Given the description of an element on the screen output the (x, y) to click on. 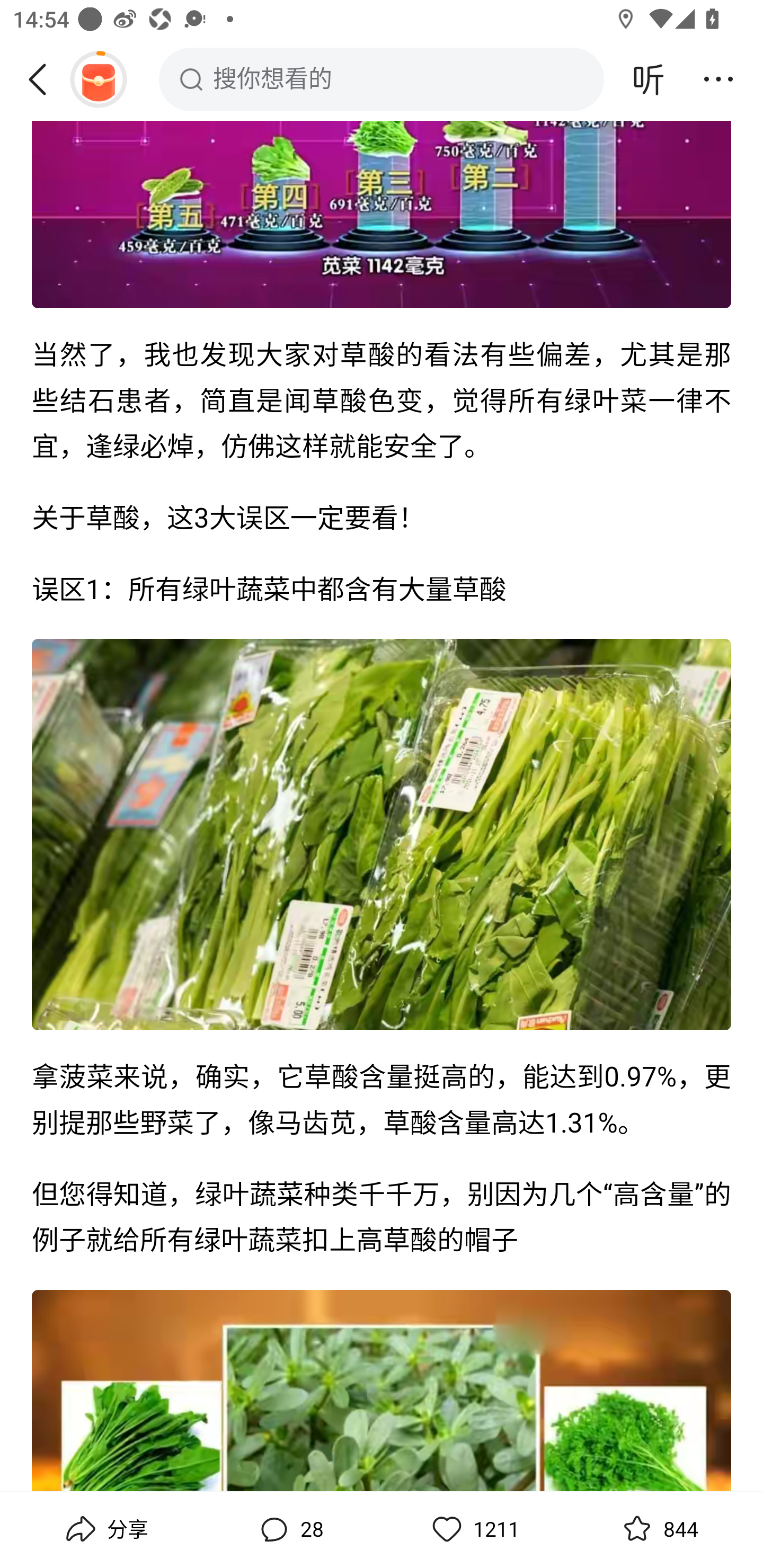
返回 (44, 78)
听头条 (648, 78)
更多操作 (718, 78)
搜你想看的 搜索框，搜你想看的 (381, 79)
阅读赚金币 (98, 79)
图片，点击识别内容 (381, 215)
图片，点击识别内容 (381, 834)
图片，点击识别内容 (381, 1391)
分享 (104, 1529)
评论,28 28 (288, 1529)
收藏,844 844 (658, 1529)
